Given the description of an element on the screen output the (x, y) to click on. 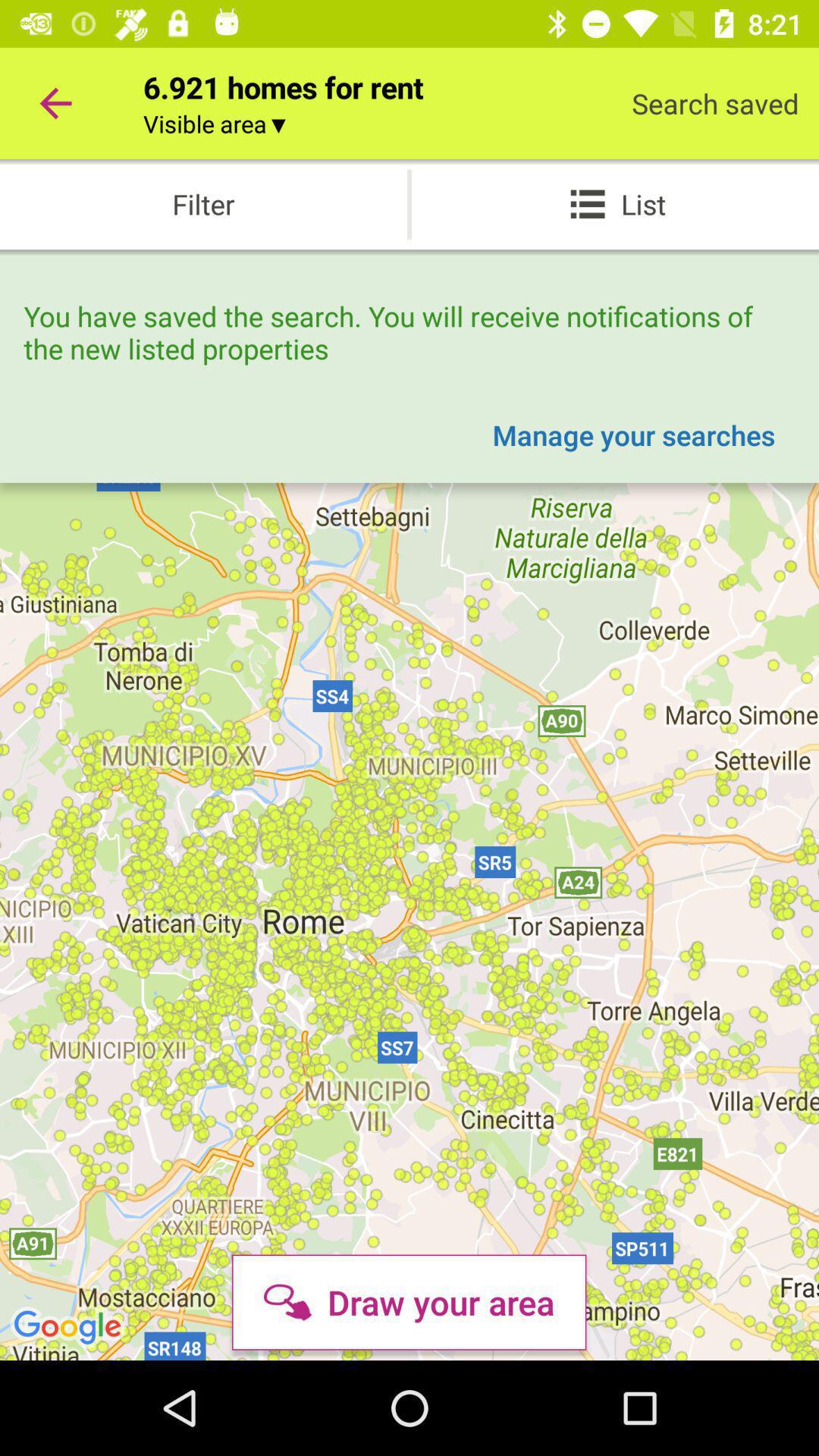
jump to the draw your area icon (409, 1302)
